Given the description of an element on the screen output the (x, y) to click on. 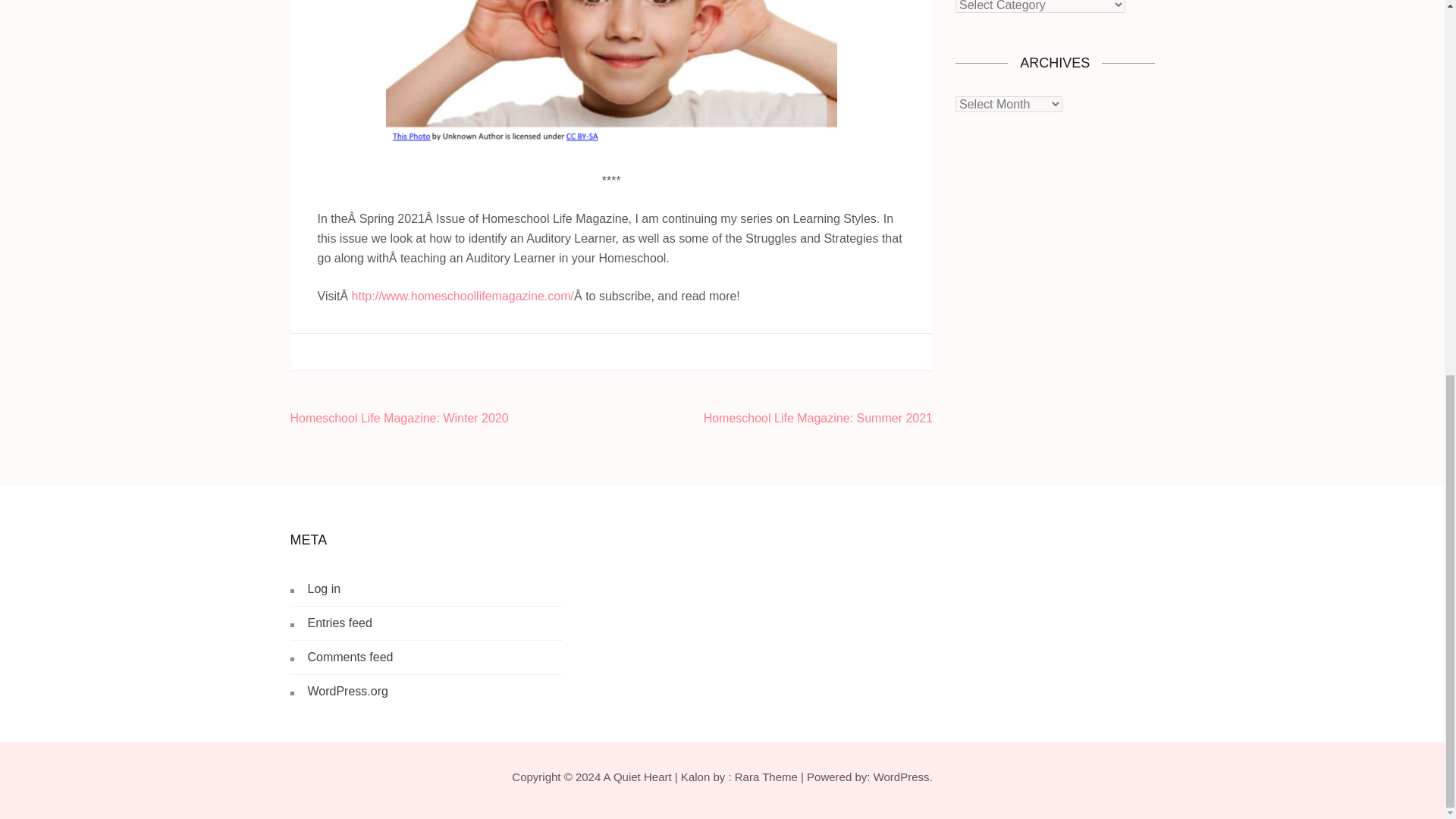
Rara Theme (766, 776)
Homeschool Life Magazine: Summer 2021 (818, 418)
Homeschool Life Magazine: Winter 2020 (398, 418)
Comments feed (350, 656)
WordPress.org (347, 690)
Log in (323, 588)
WordPress. (903, 776)
A Quiet Heart (637, 776)
Entries feed (339, 622)
